Given the description of an element on the screen output the (x, y) to click on. 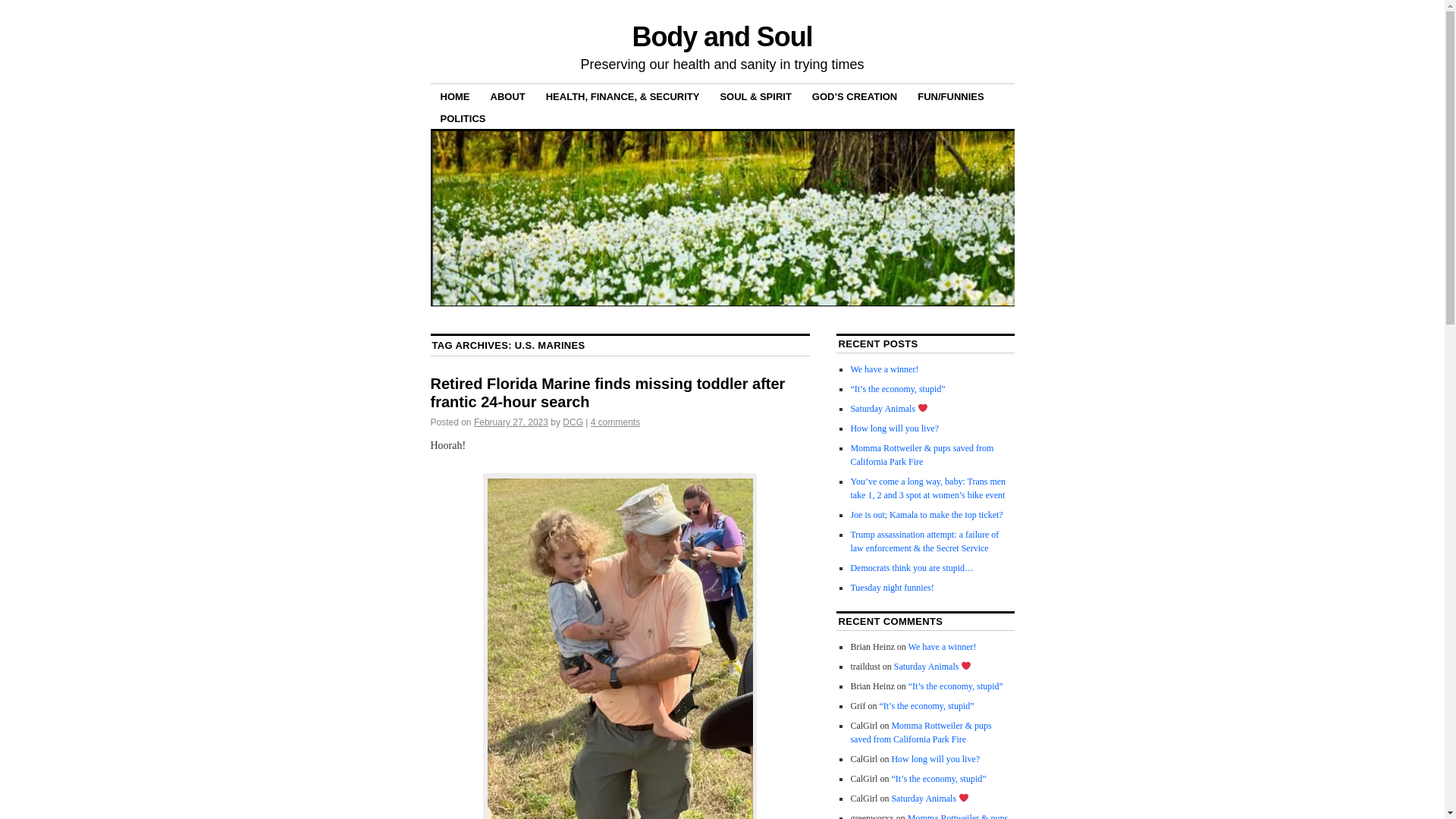
Body and Soul (721, 36)
View all posts by DCG (572, 421)
DCG (572, 421)
HOME (455, 96)
February 27, 2023 (511, 421)
How long will you live? (894, 428)
We have a winner! (884, 368)
4:02 pm (511, 421)
Joe is out; Kamala to make the top ticket? (926, 514)
